Given the description of an element on the screen output the (x, y) to click on. 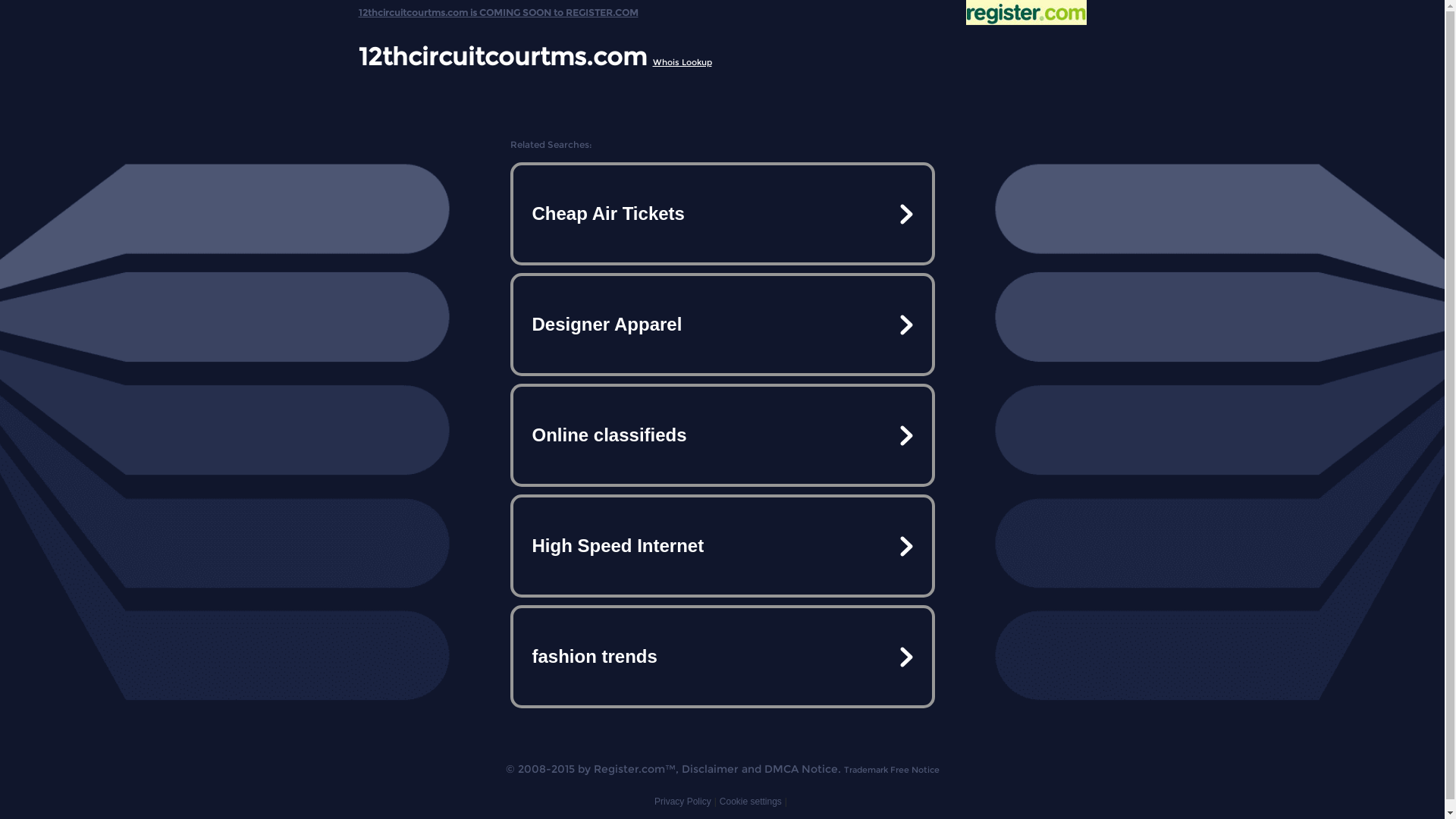
Designer Apparel Element type: text (721, 324)
Cookie settings Element type: text (750, 801)
Whois Lookup Element type: text (681, 61)
Cheap Air Tickets Element type: text (721, 213)
fashion trends Element type: text (721, 656)
Online classifieds Element type: text (721, 434)
Trademark Free Notice Element type: text (890, 769)
Privacy Policy Element type: text (682, 801)
12thcircuitcourtms.com Element type: text (501, 56)
High Speed Internet Element type: text (721, 545)
12thcircuitcourtms.com is COMING SOON to REGISTER.COM Element type: text (497, 9)
